Given the description of an element on the screen output the (x, y) to click on. 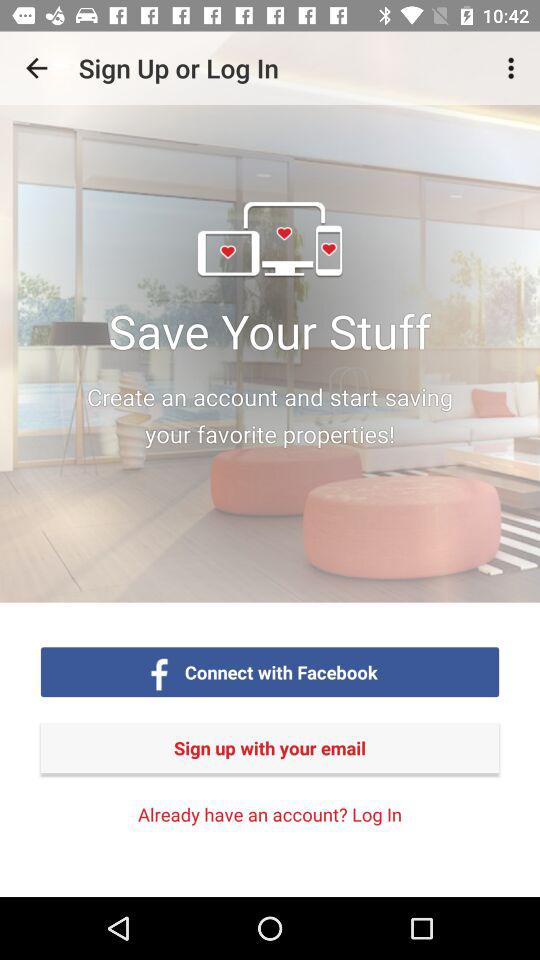
select the item below the sign up with item (269, 814)
